Given the description of an element on the screen output the (x, y) to click on. 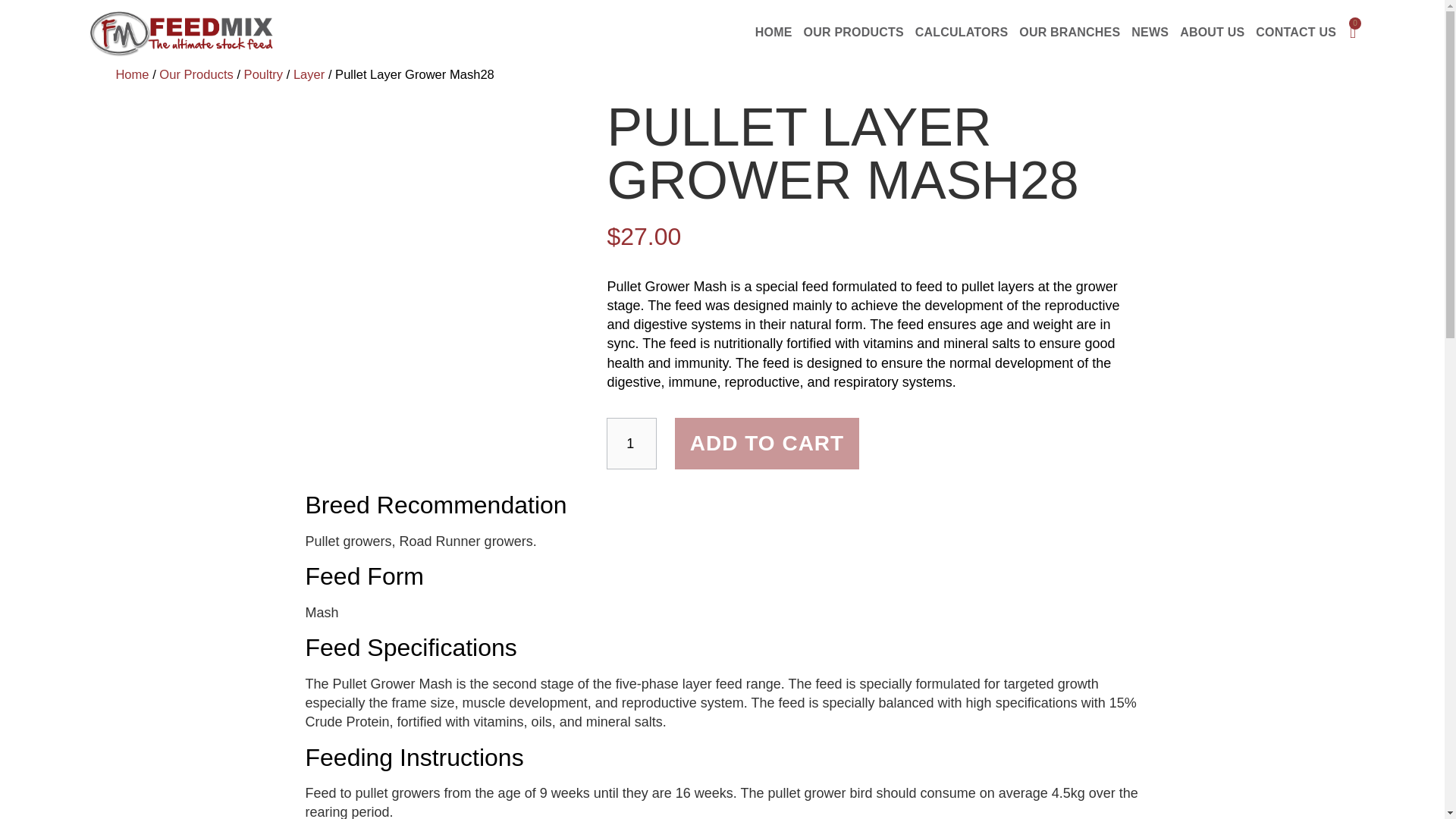
OUR PRODUCTS (852, 32)
HOME (773, 32)
OUR BRANCHES (1069, 32)
CALCULATORS (961, 32)
ABOUT US (1211, 32)
1 (631, 443)
NEWS (1149, 32)
CONTACT US (1295, 32)
